Given the description of an element on the screen output the (x, y) to click on. 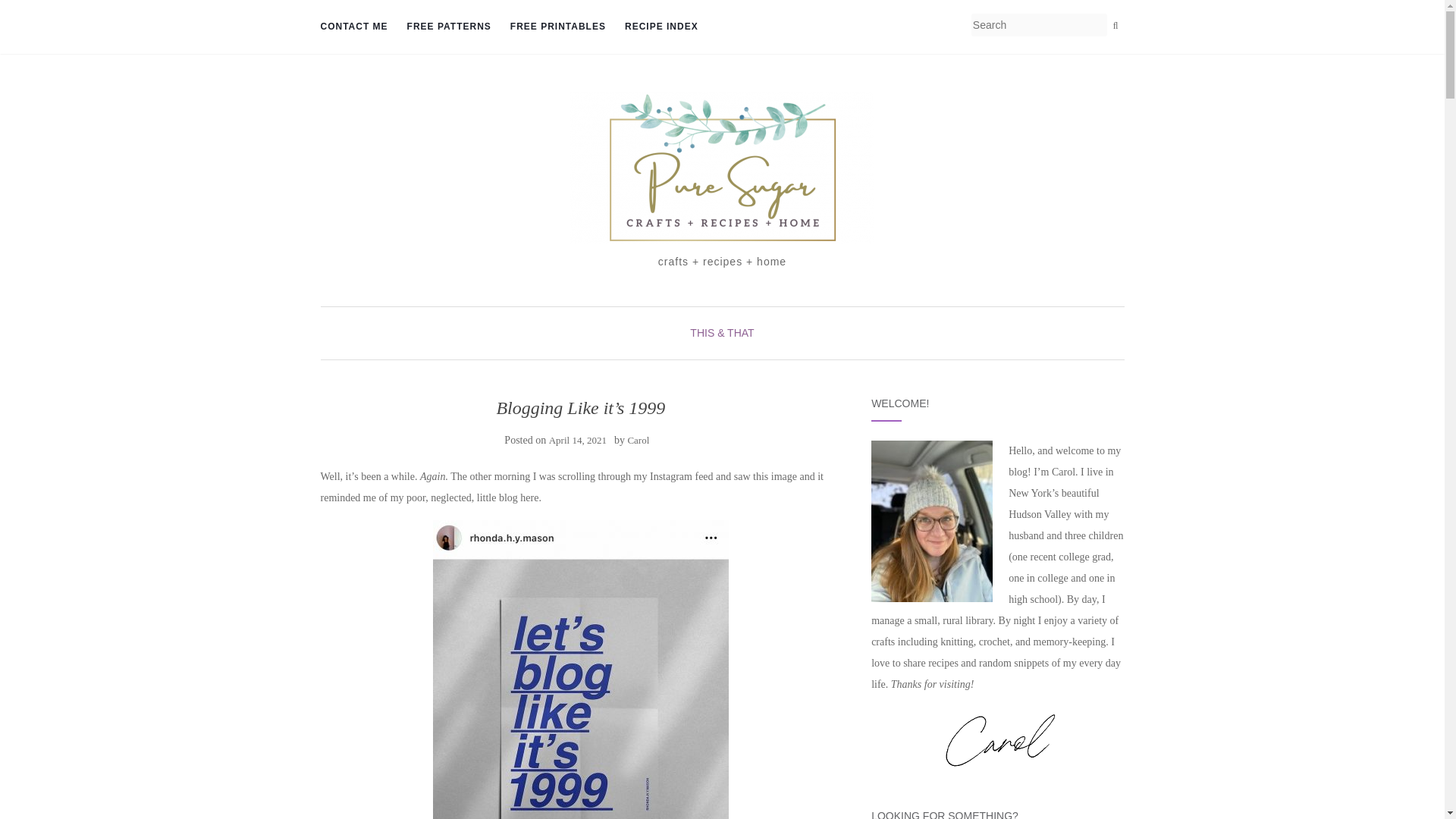
April 14, 2021 (577, 439)
Recipe Index (661, 27)
FREE PRINTABLES (558, 27)
FREE PATTERNS (449, 27)
Carol (638, 439)
RECIPE INDEX (661, 27)
Contact Me (353, 27)
Free Printables (558, 27)
Free Patterns (449, 27)
CONTACT ME (353, 27)
